Given the description of an element on the screen output the (x, y) to click on. 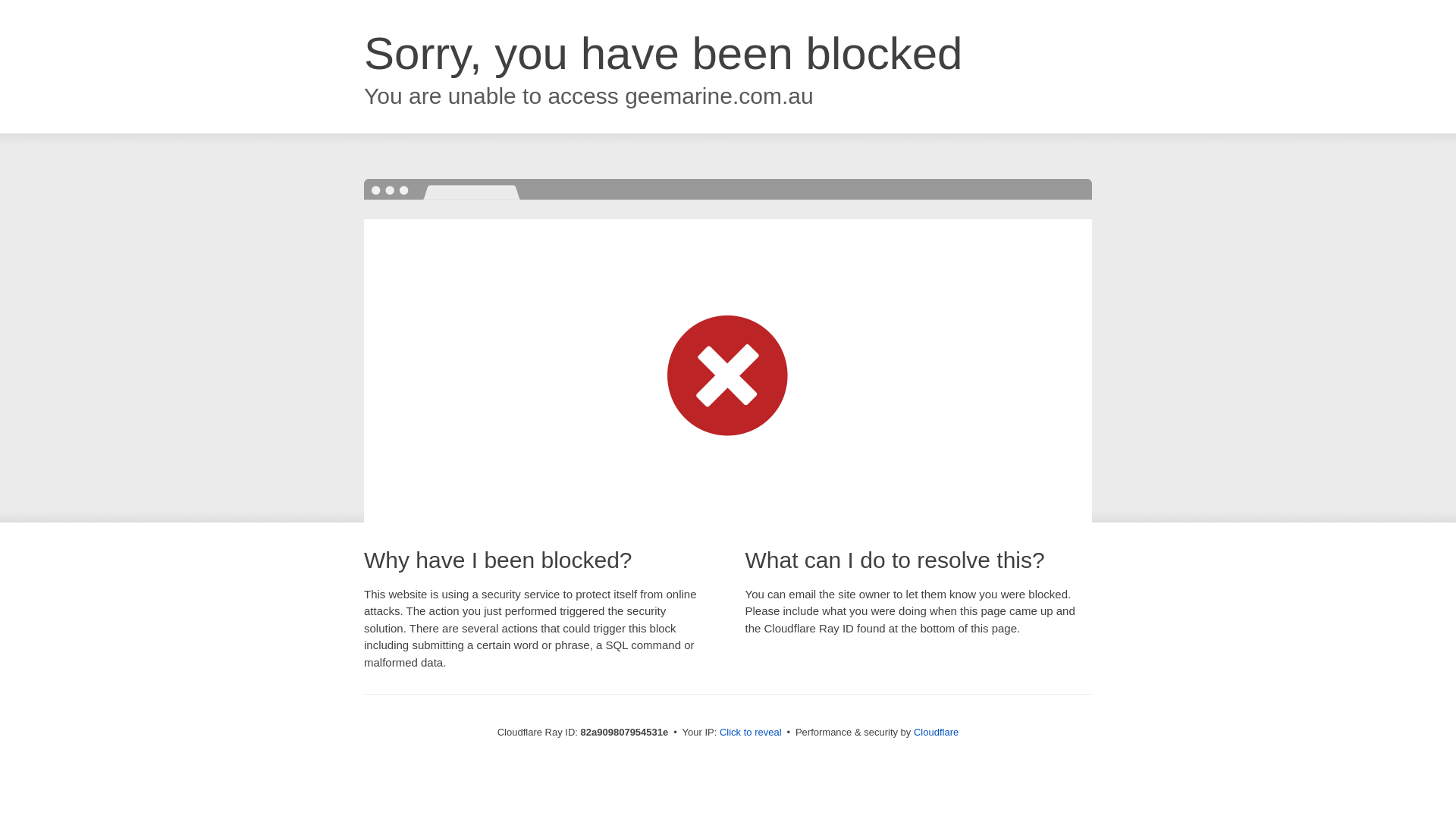
Click to reveal Element type: text (750, 732)
Cloudflare Element type: text (935, 731)
